Given the description of an element on the screen output the (x, y) to click on. 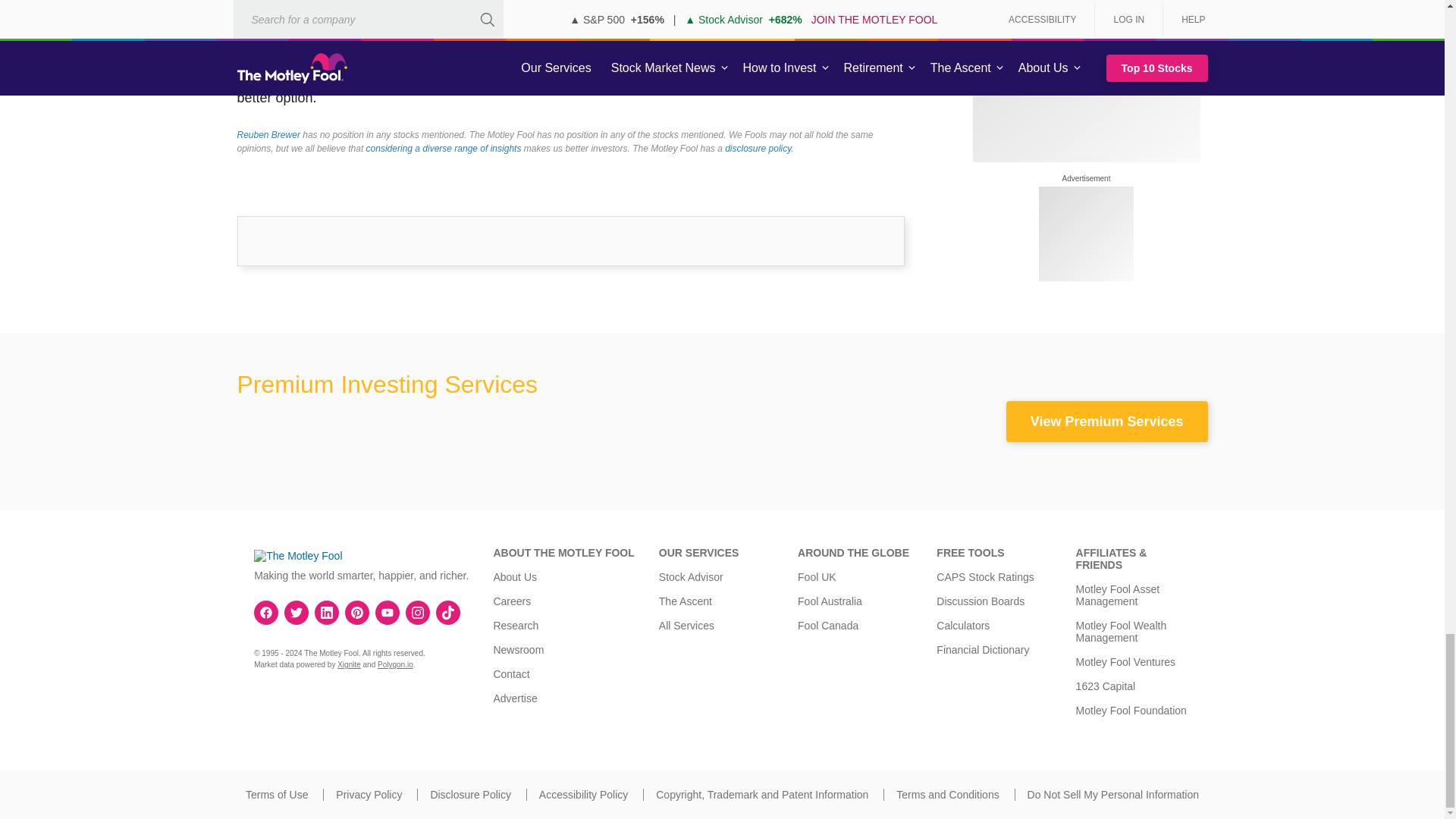
Do Not Sell My Personal Information. (1112, 794)
Terms of Use (276, 794)
Terms and Conditions (947, 794)
Copyright, Trademark and Patent Information (761, 794)
Disclosure Policy (470, 794)
Accessibility Policy (582, 794)
Privacy Policy (368, 794)
